Given the description of an element on the screen output the (x, y) to click on. 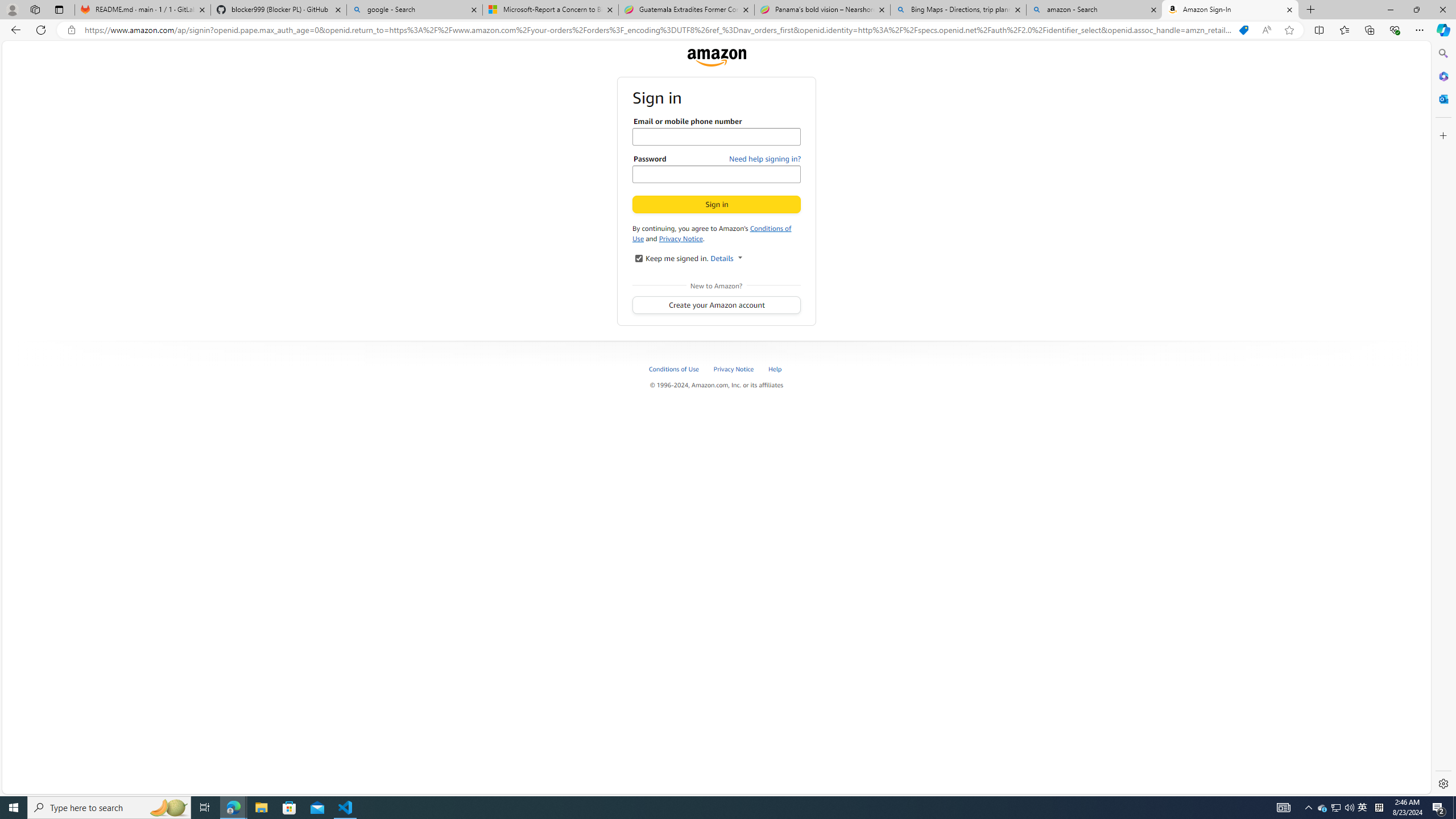
Email or mobile phone number (715, 136)
Details  (726, 258)
Privacy Notice (680, 238)
Privacy Notice  (734, 368)
amazon - Search (1094, 9)
